Given the description of an element on the screen output the (x, y) to click on. 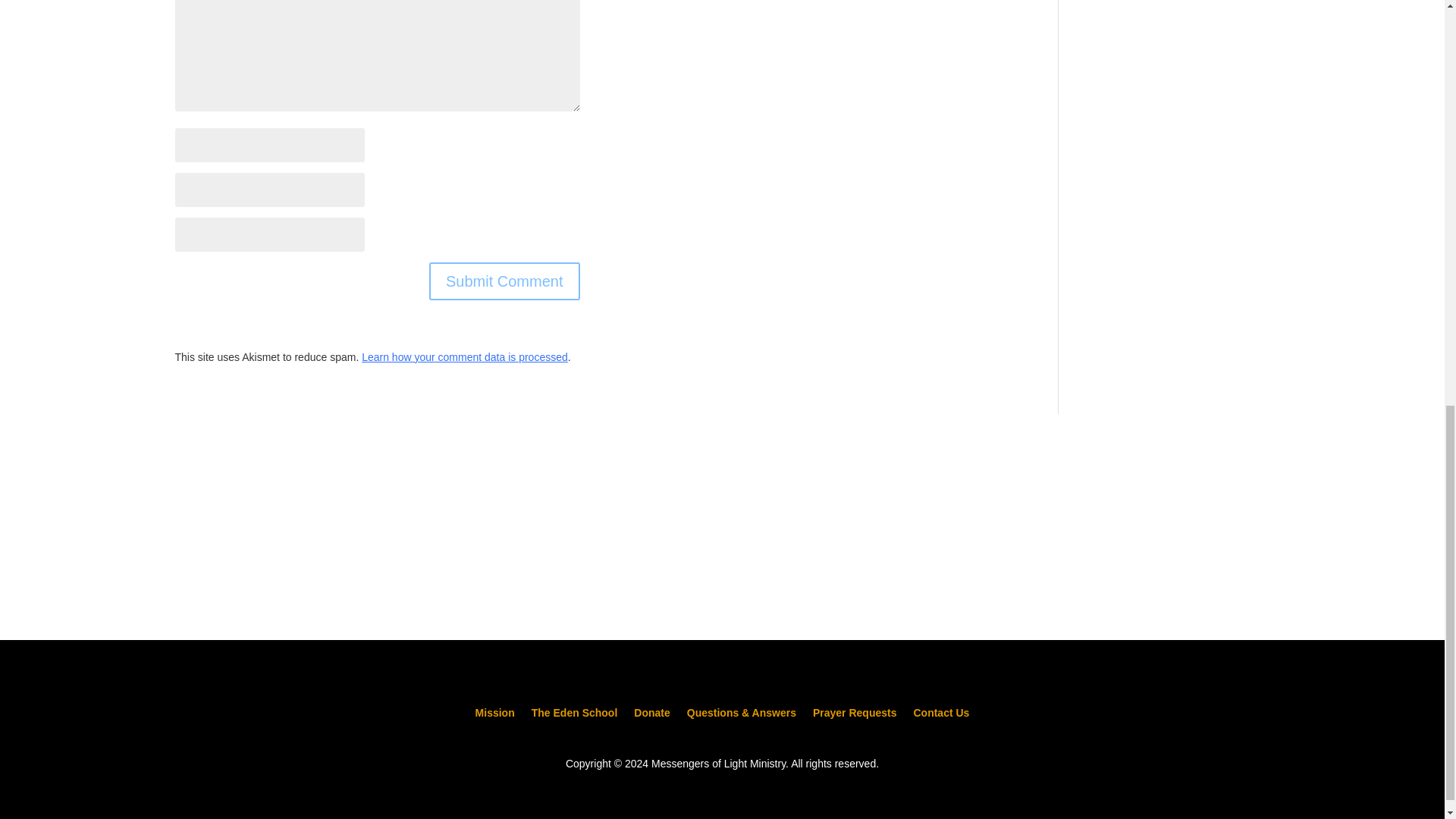
Submit Comment (504, 281)
